Given the description of an element on the screen output the (x, y) to click on. 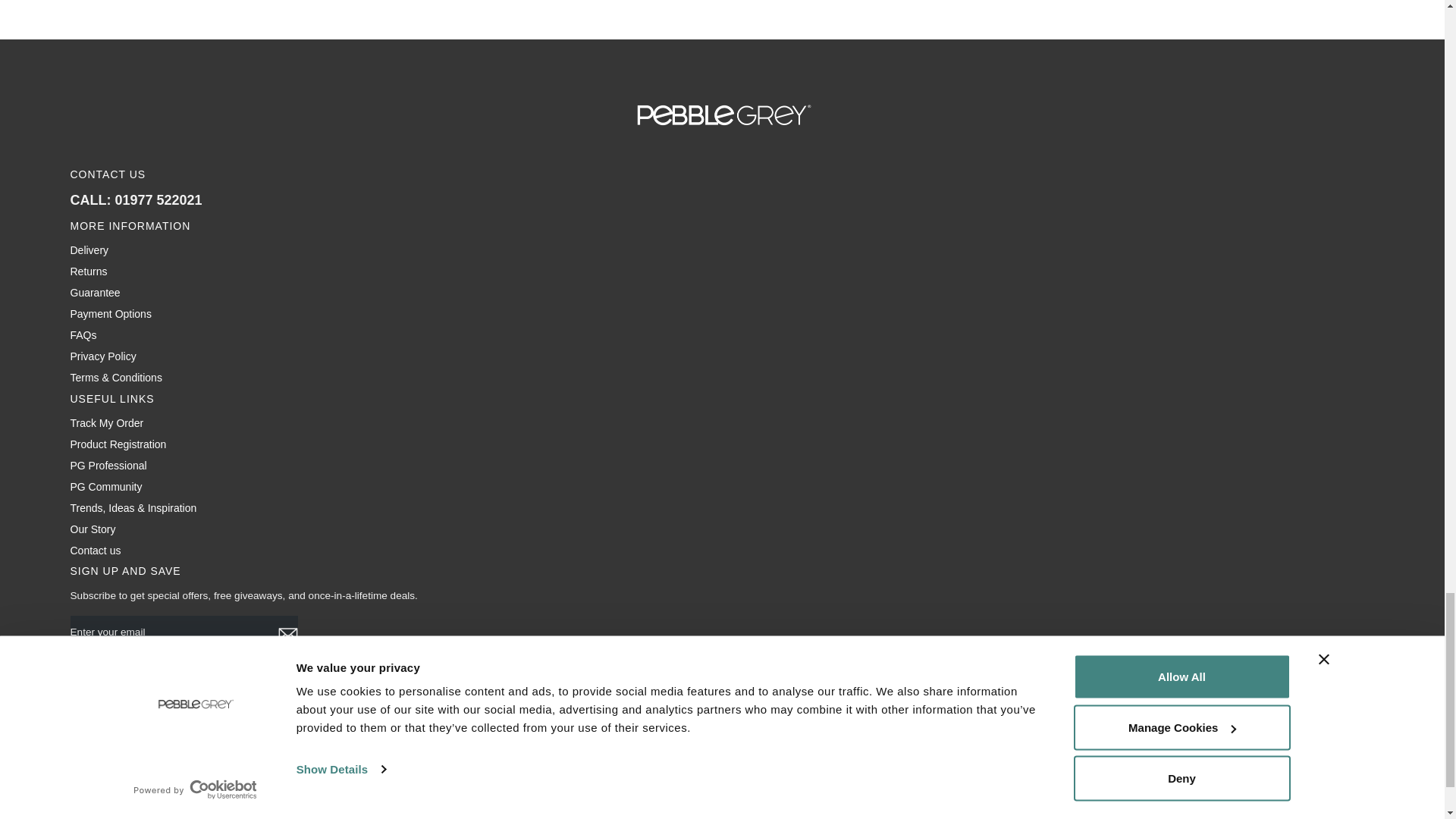
Diners Club (156, 727)
Mastercard (296, 727)
Union Pay (400, 727)
Shop Pay (366, 727)
Maestro (261, 727)
Visa (435, 727)
Apple Pay (121, 727)
Google Pay (226, 727)
PayPal (331, 727)
Discover (191, 727)
American Express (86, 727)
